Given the description of an element on the screen output the (x, y) to click on. 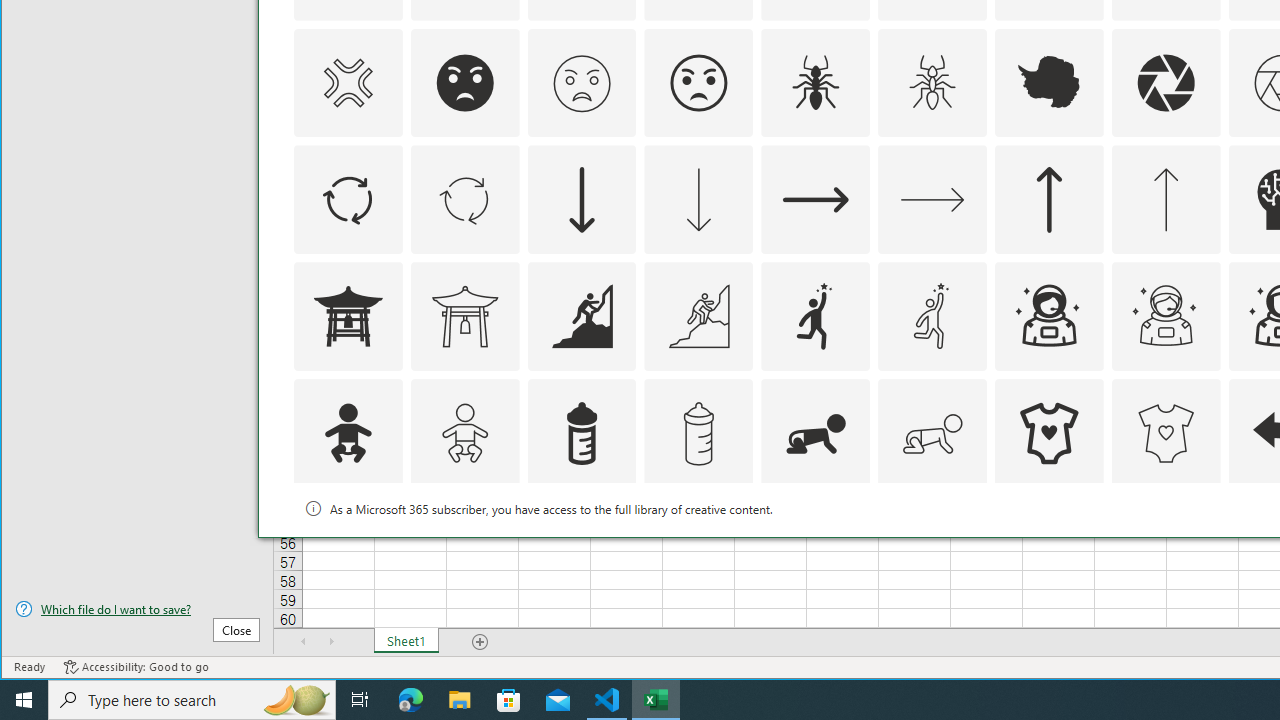
File Explorer (460, 699)
Start (24, 699)
Visual Studio Code - 1 running window (607, 699)
AutomationID: Icons_Baby_M (464, 434)
AutomationID: Icons_BabyCrawling_M (932, 434)
AutomationID: Icons_BabyOnesie (1048, 434)
AutomationID: Icons_ArrowDown_M (698, 200)
AutomationID: Icons_AngryFace (464, 82)
